Given the description of an element on the screen output the (x, y) to click on. 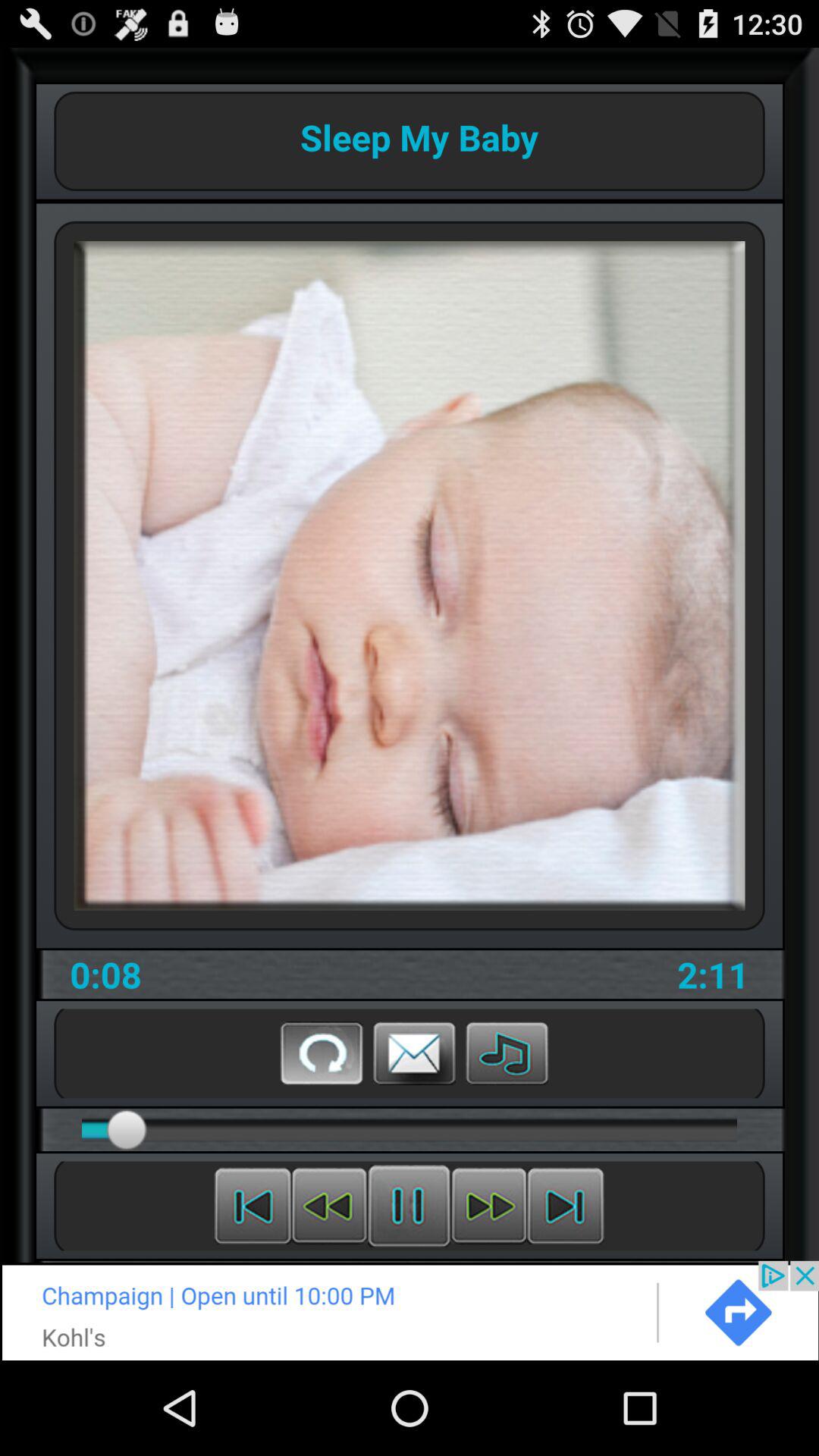
rewind the song (252, 1205)
